Given the description of an element on the screen output the (x, y) to click on. 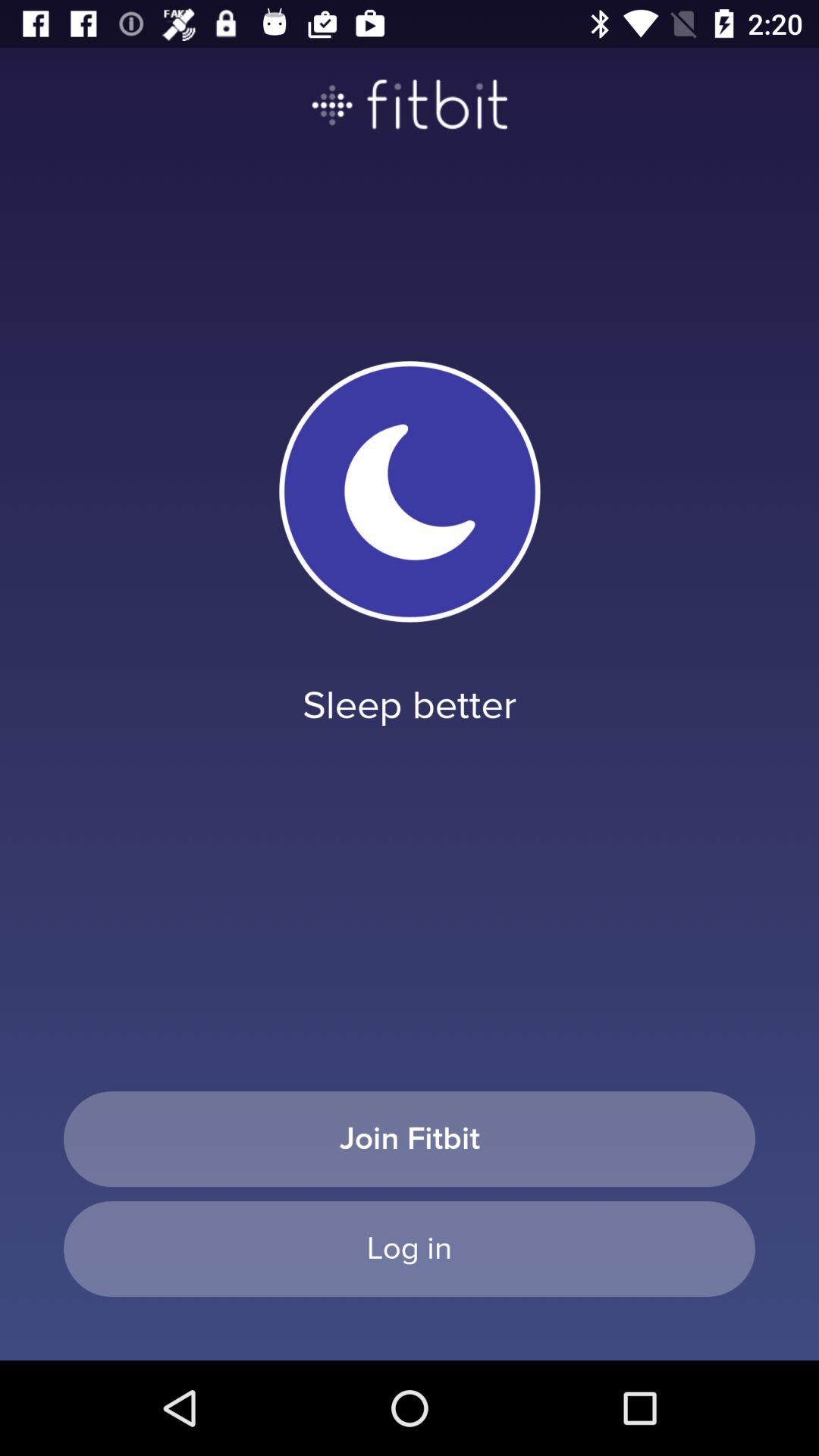
flip to the join fitbit item (409, 1138)
